Given the description of an element on the screen output the (x, y) to click on. 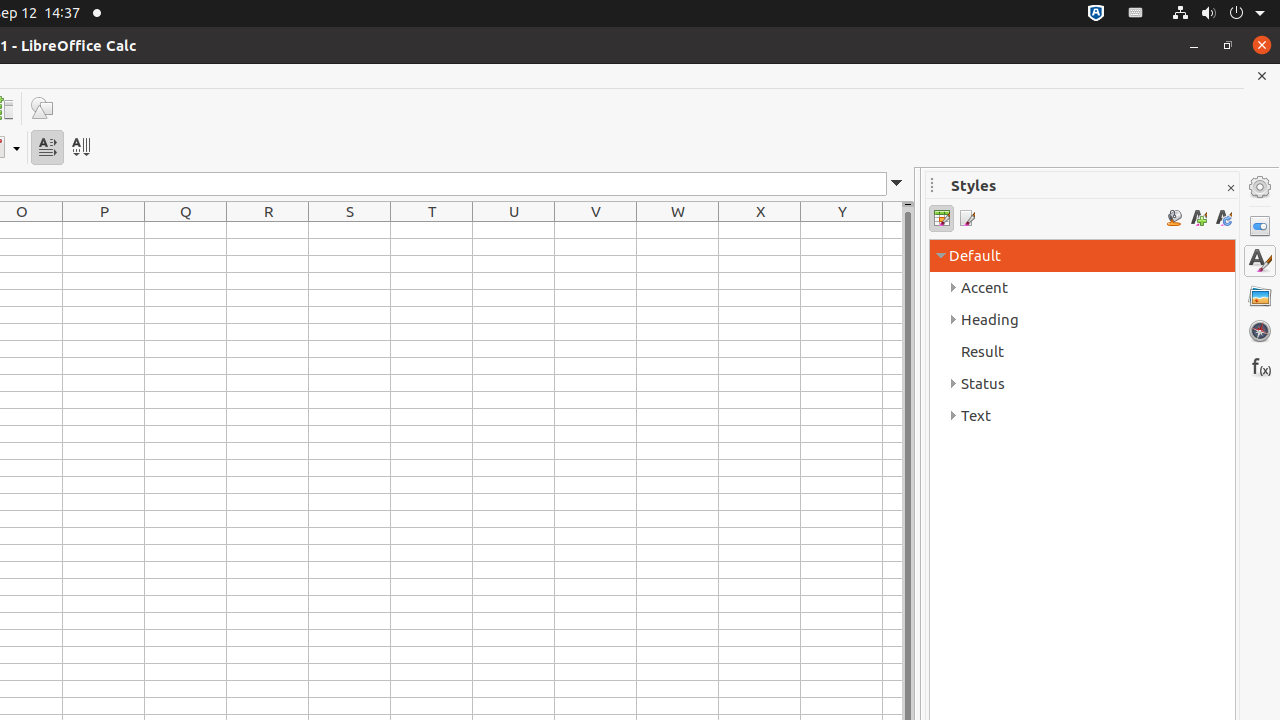
V1 Element type: table-cell (596, 230)
Q1 Element type: table-cell (186, 230)
:1.72/StatusNotifierItem Element type: menu (1096, 13)
R1 Element type: table-cell (268, 230)
X1 Element type: table-cell (760, 230)
